Given the description of an element on the screen output the (x, y) to click on. 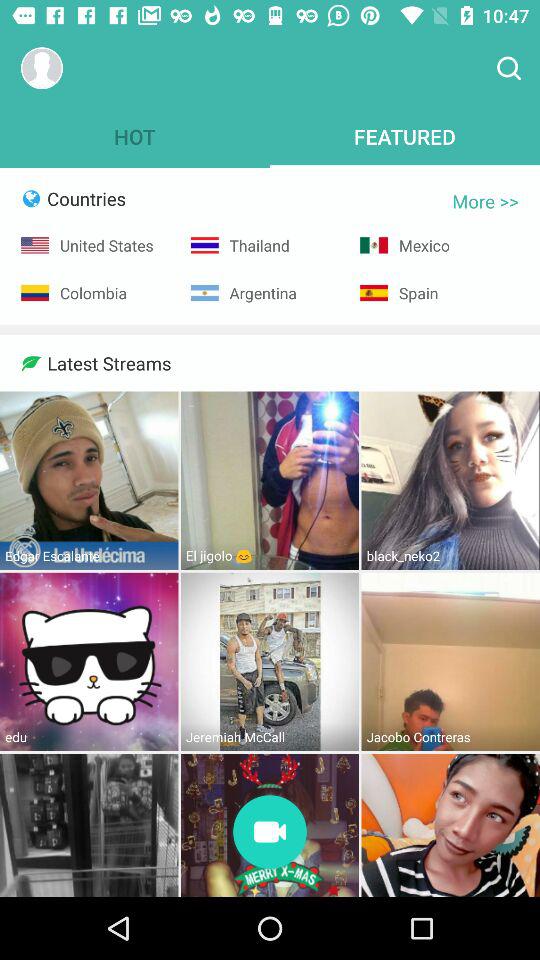
watch stream (269, 834)
